Given the description of an element on the screen output the (x, y) to click on. 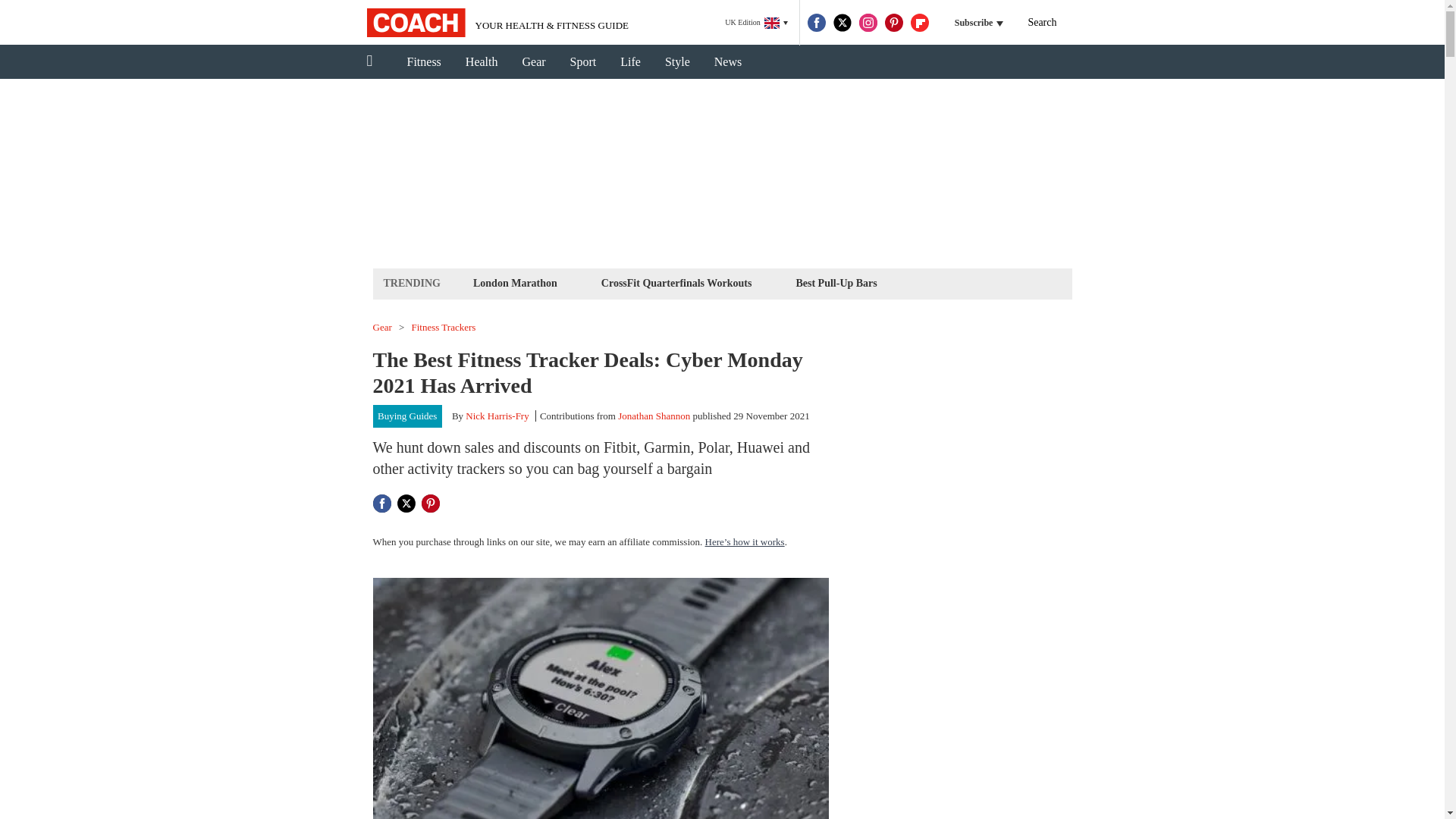
CrossFit Quarterfinals Workouts (676, 282)
Nick Harris-Fry (496, 415)
Gear (533, 61)
Fitness (423, 61)
News (727, 61)
Buying Guides (407, 415)
Health (481, 61)
Fitness Trackers (444, 327)
UK Edition (755, 22)
Jonathan Shannon (653, 415)
